Given the description of an element on the screen output the (x, y) to click on. 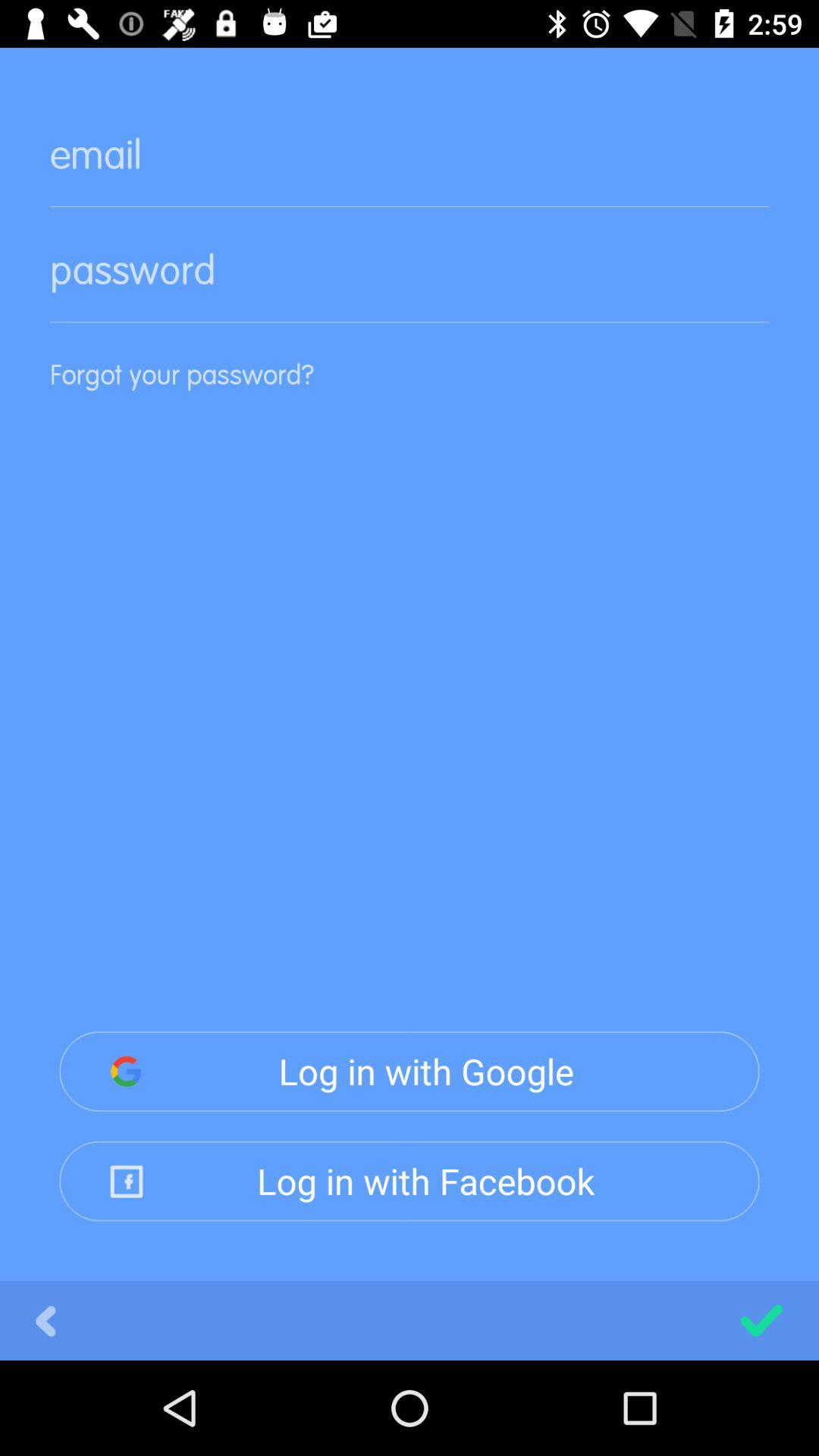
tap the item above log in with icon (409, 397)
